Given the description of an element on the screen output the (x, y) to click on. 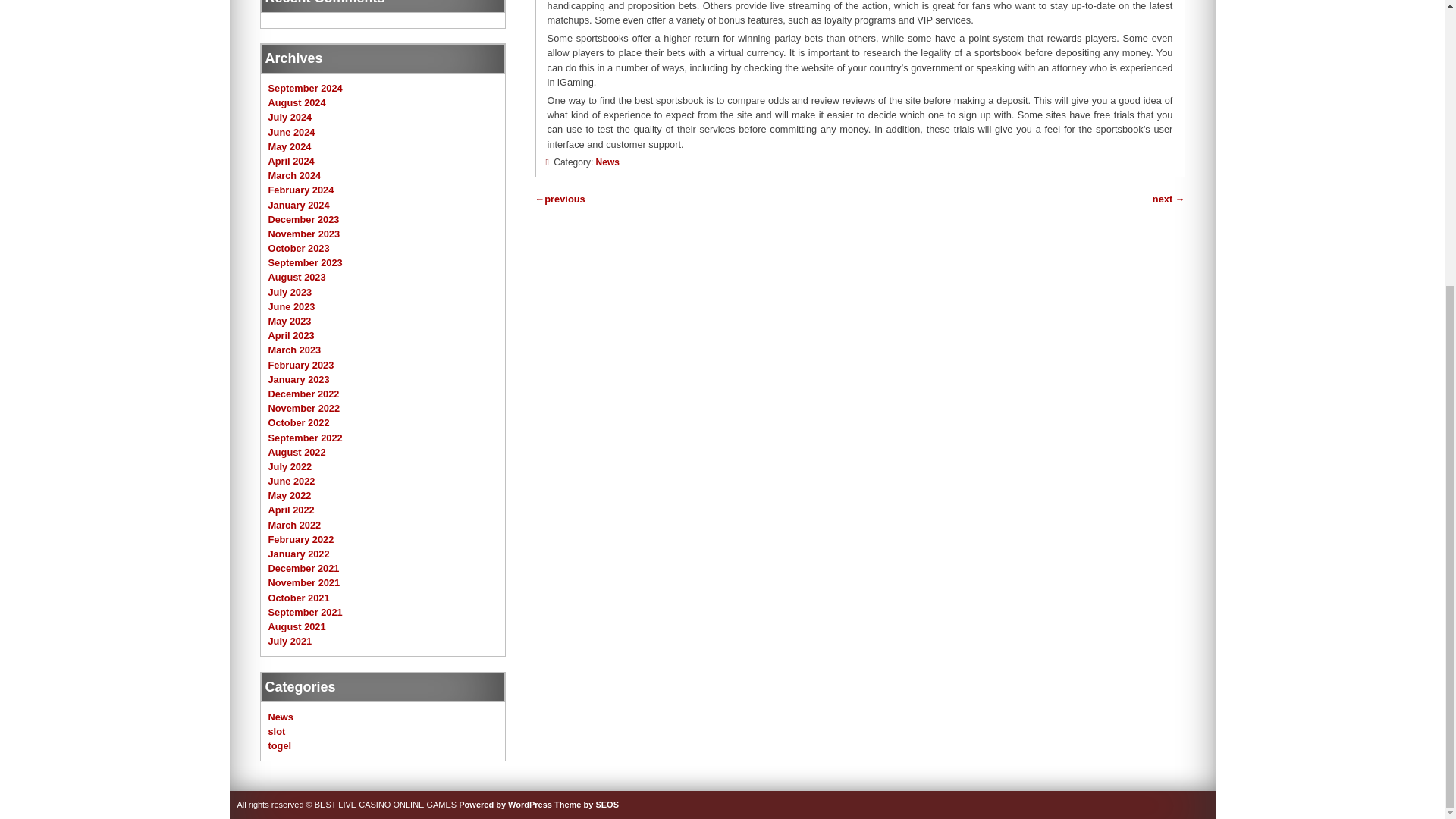
June 2024 (291, 132)
July 2023 (290, 292)
March 2024 (294, 174)
April 2024 (290, 161)
August 2023 (296, 276)
May 2023 (289, 320)
October 2023 (298, 247)
November 2022 (303, 408)
Seos free wordpress themes (586, 804)
November 2023 (303, 233)
